Given the description of an element on the screen output the (x, y) to click on. 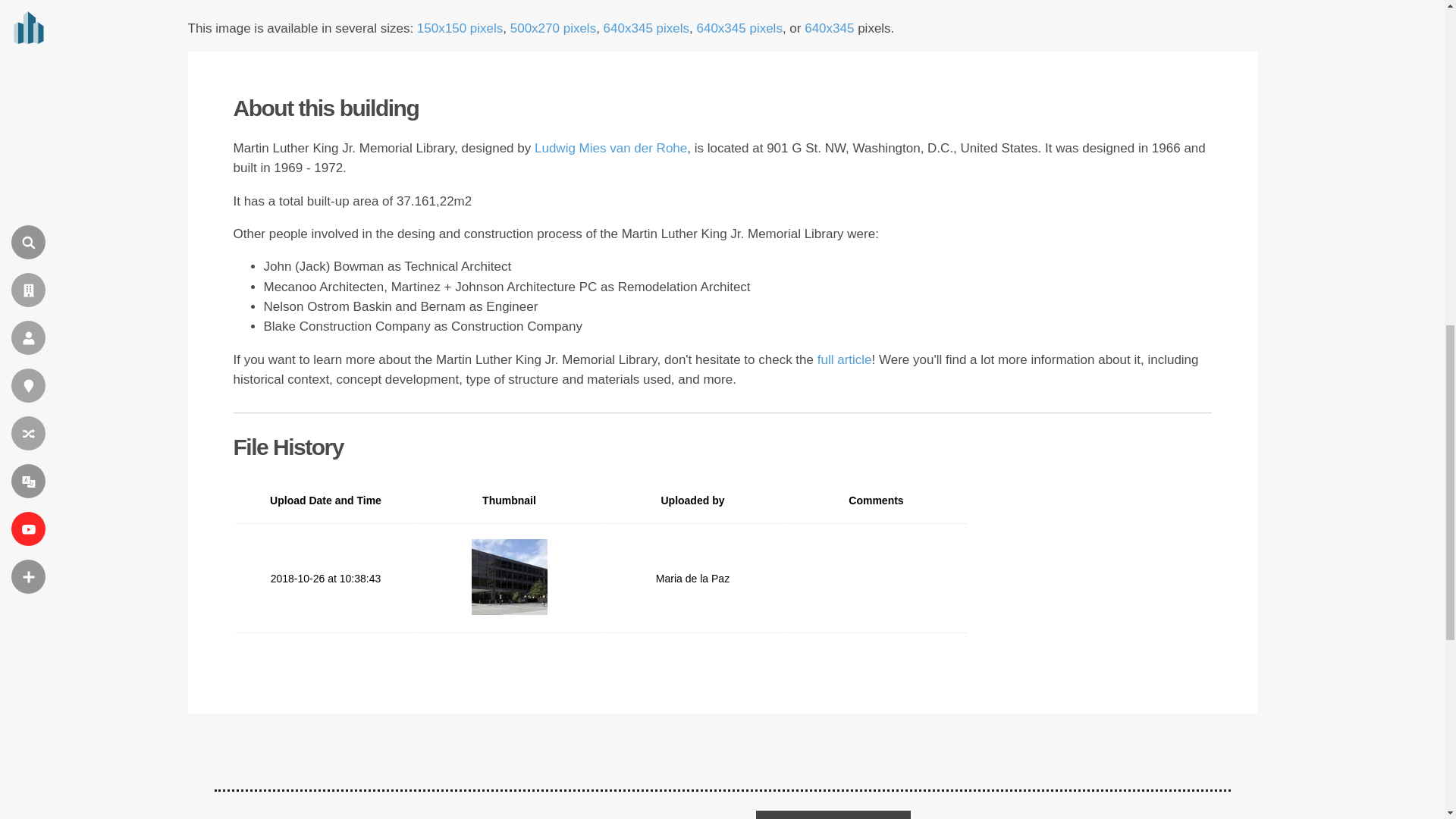
150x150 pixels (459, 28)
Ludwig Mies van der Rohe (610, 147)
SIGN ME UP! (833, 814)
640x345 pixels (646, 28)
640x345 pixels (738, 28)
full article (844, 359)
640x345 (829, 28)
500x270 pixels (553, 28)
